Given the description of an element on the screen output the (x, y) to click on. 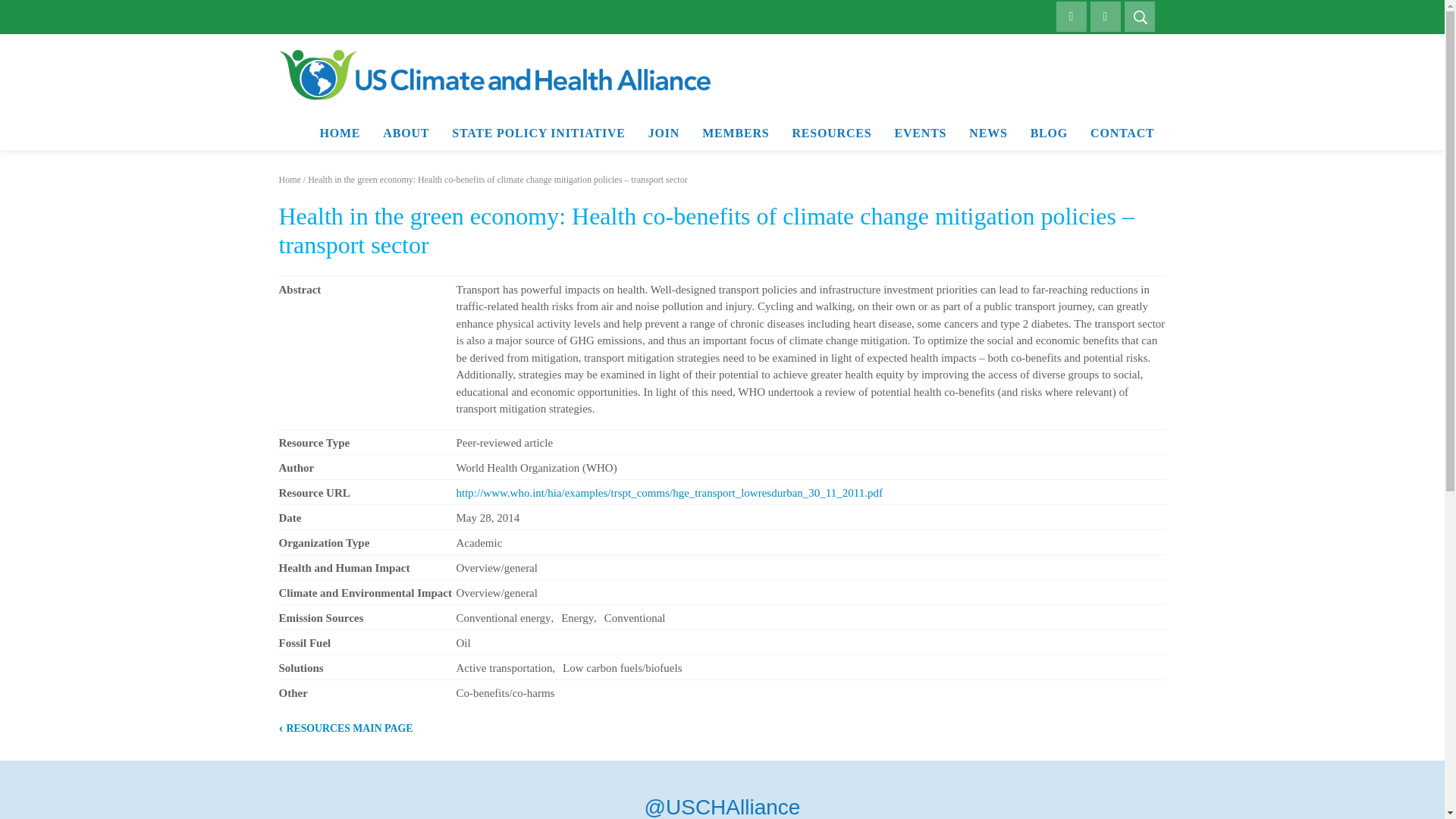
EVENTS (920, 133)
Framework for Action (853, 168)
Framework for Action will open in a new tab or window (853, 168)
NEWS (987, 133)
RESOURCES MAIN PAGE (346, 727)
Statement of Principles (450, 164)
Resource will open in a new tab or window (669, 492)
ABOUT (406, 133)
Home (290, 179)
MEMBERS (735, 133)
US Climate and Health Alliance (494, 74)
RESOURCES (831, 133)
STATE POLICY INITIATIVE (539, 133)
Twitter will open in a new tab or window (722, 807)
HOME (339, 133)
